Given the description of an element on the screen output the (x, y) to click on. 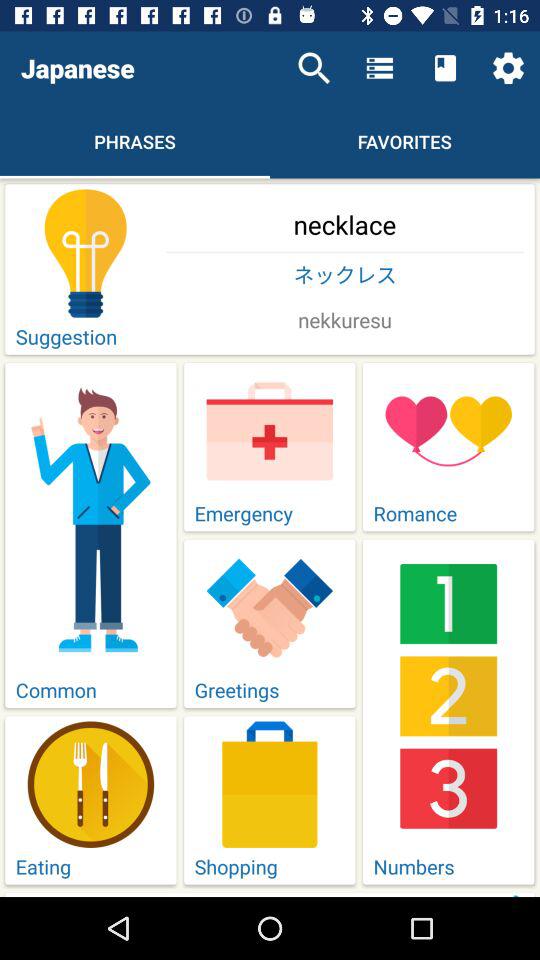
select the item below the eating icon (345, 894)
